Given the description of an element on the screen output the (x, y) to click on. 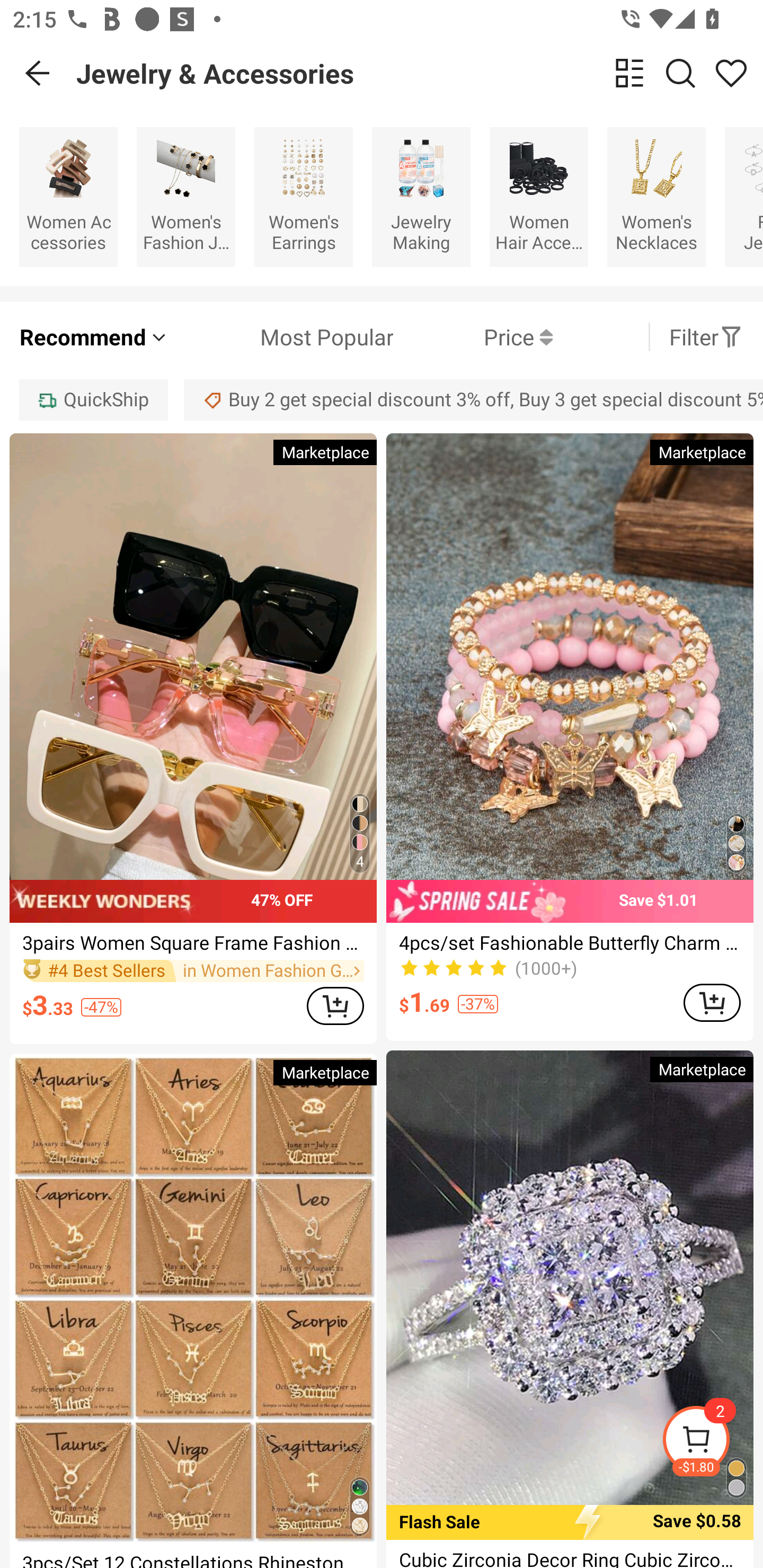
Jewelry & Accessories change view Search Share (419, 72)
change view (629, 72)
Search (679, 72)
Share (730, 72)
Women Accessories (68, 196)
Women's Fashion Jewelry (185, 196)
Women's Earrings (303, 196)
Jewelry Making (421, 196)
Women Hair Accessories (538, 196)
Women's Necklaces (656, 196)
Recommend (94, 336)
Most Popular (280, 336)
Price (472, 336)
Filter (705, 336)
QuickShip (93, 399)
#4 Best Sellers in Women Fashion Glasses (192, 970)
ADD TO CART (711, 1002)
ADD TO CART (334, 1005)
-$1.80 (712, 1441)
